Given the description of an element on the screen output the (x, y) to click on. 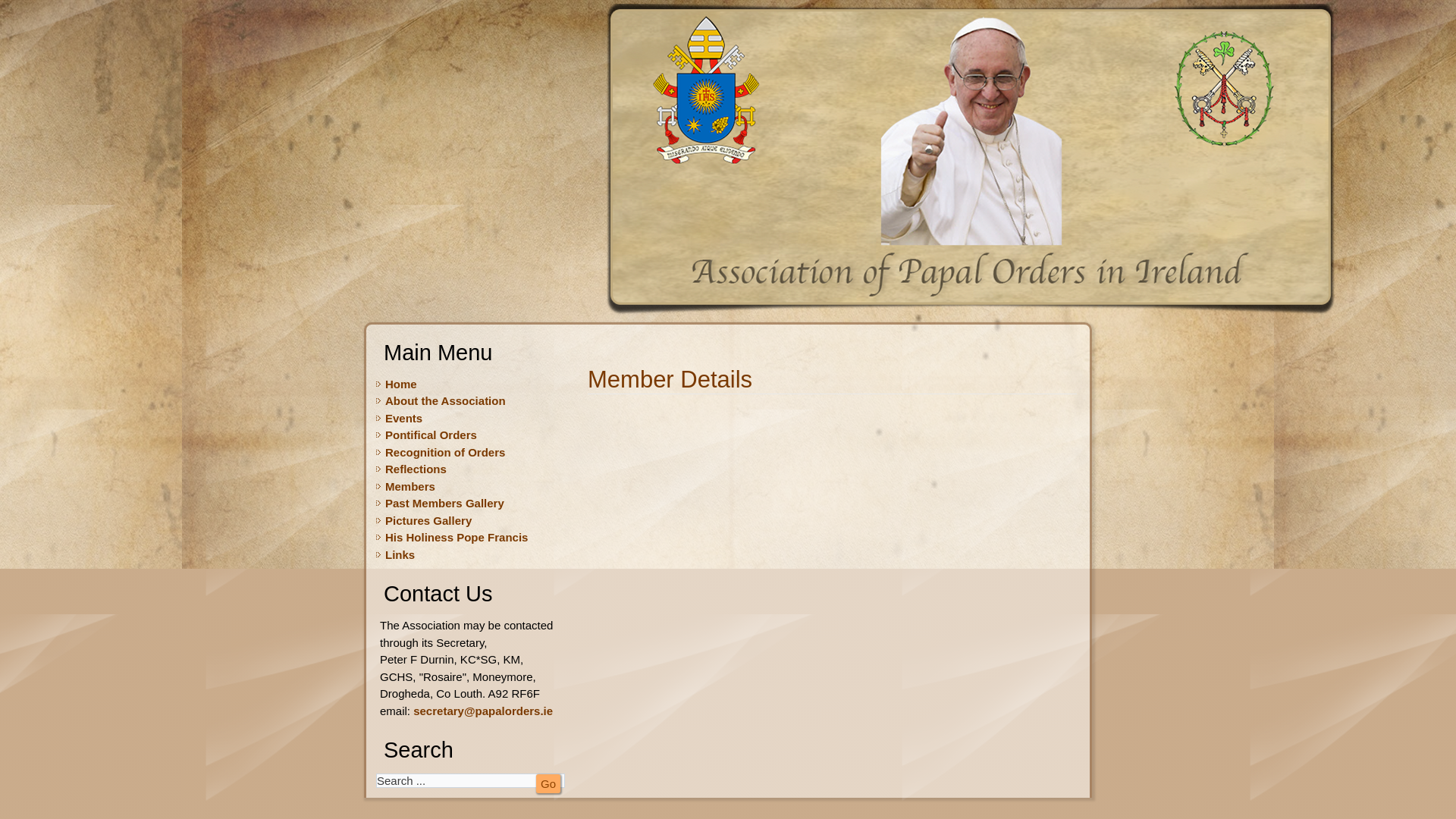
Pontifical Orders (431, 434)
About the Association (445, 400)
Go (547, 783)
Members (410, 486)
His Holiness Pope Francis (456, 536)
Past Members Gallery (444, 502)
Pictures Gallery (428, 520)
Events (403, 418)
Go (547, 783)
Links (399, 554)
